Given the description of an element on the screen output the (x, y) to click on. 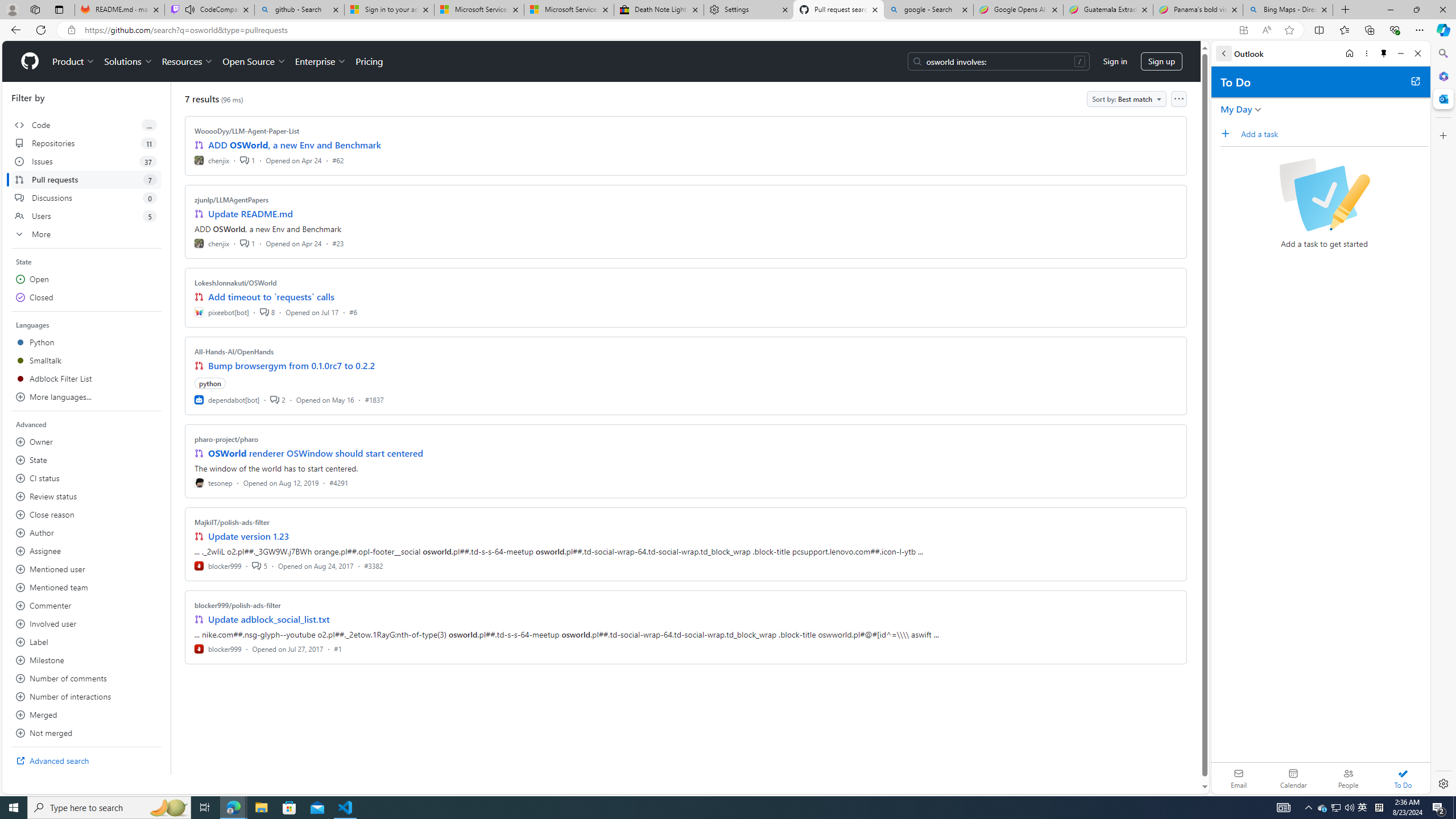
Solutions (128, 60)
OSWorld renderer OSWindow should start centered (315, 453)
1 (246, 242)
